Given the description of an element on the screen output the (x, y) to click on. 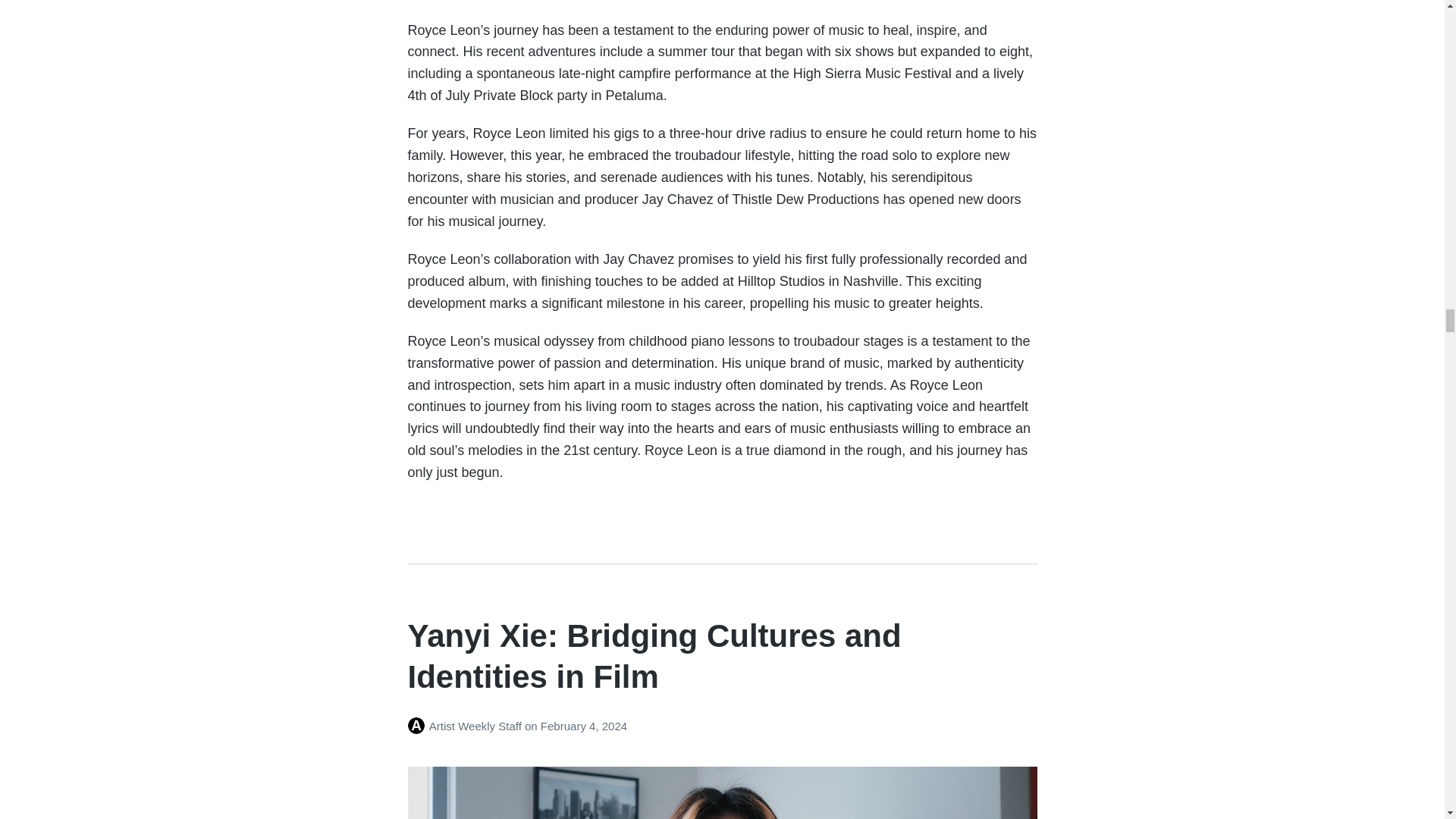
Posts by Artist Weekly Staff (418, 725)
